Given the description of an element on the screen output the (x, y) to click on. 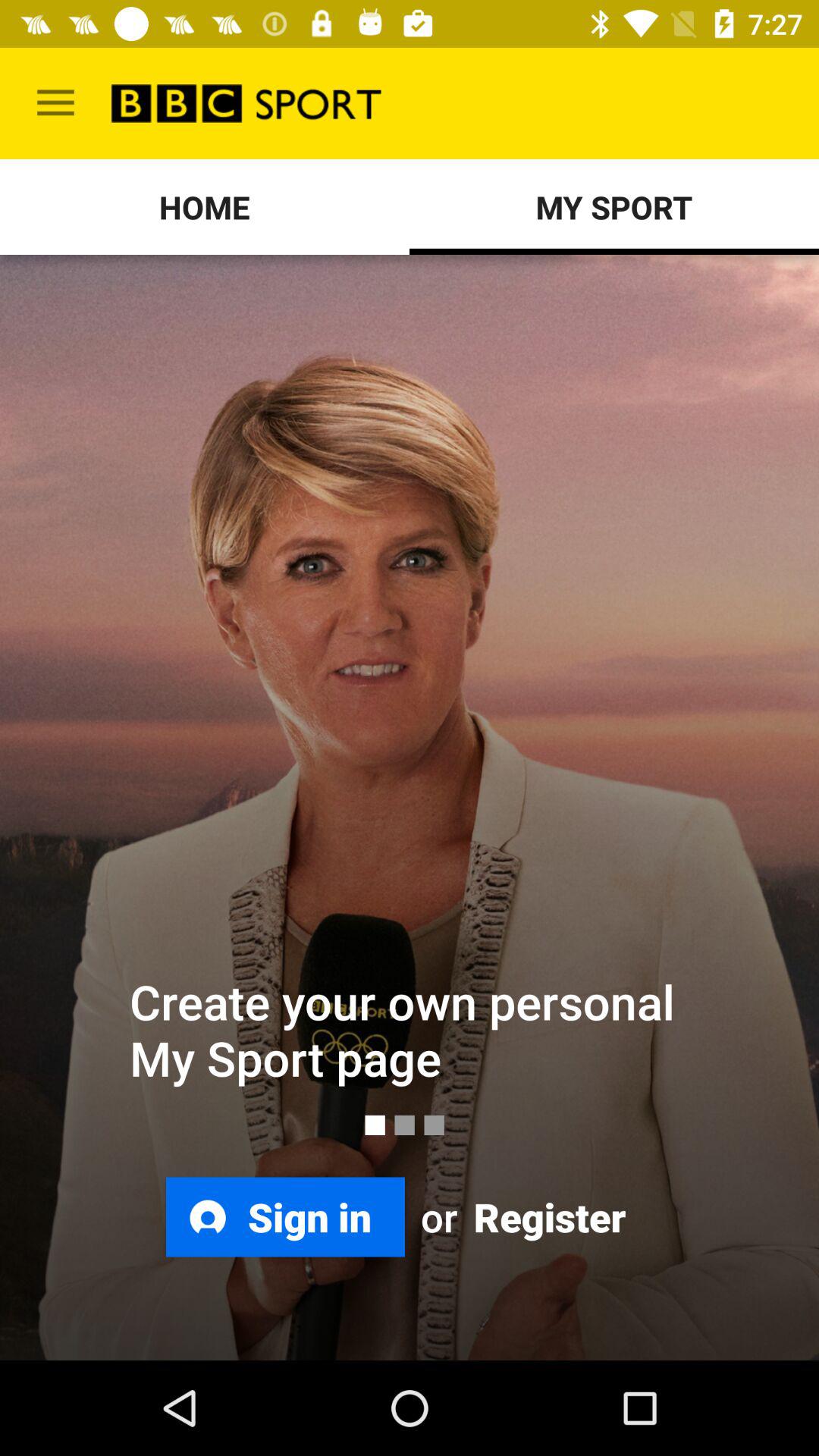
open sign in icon (285, 1216)
